Given the description of an element on the screen output the (x, y) to click on. 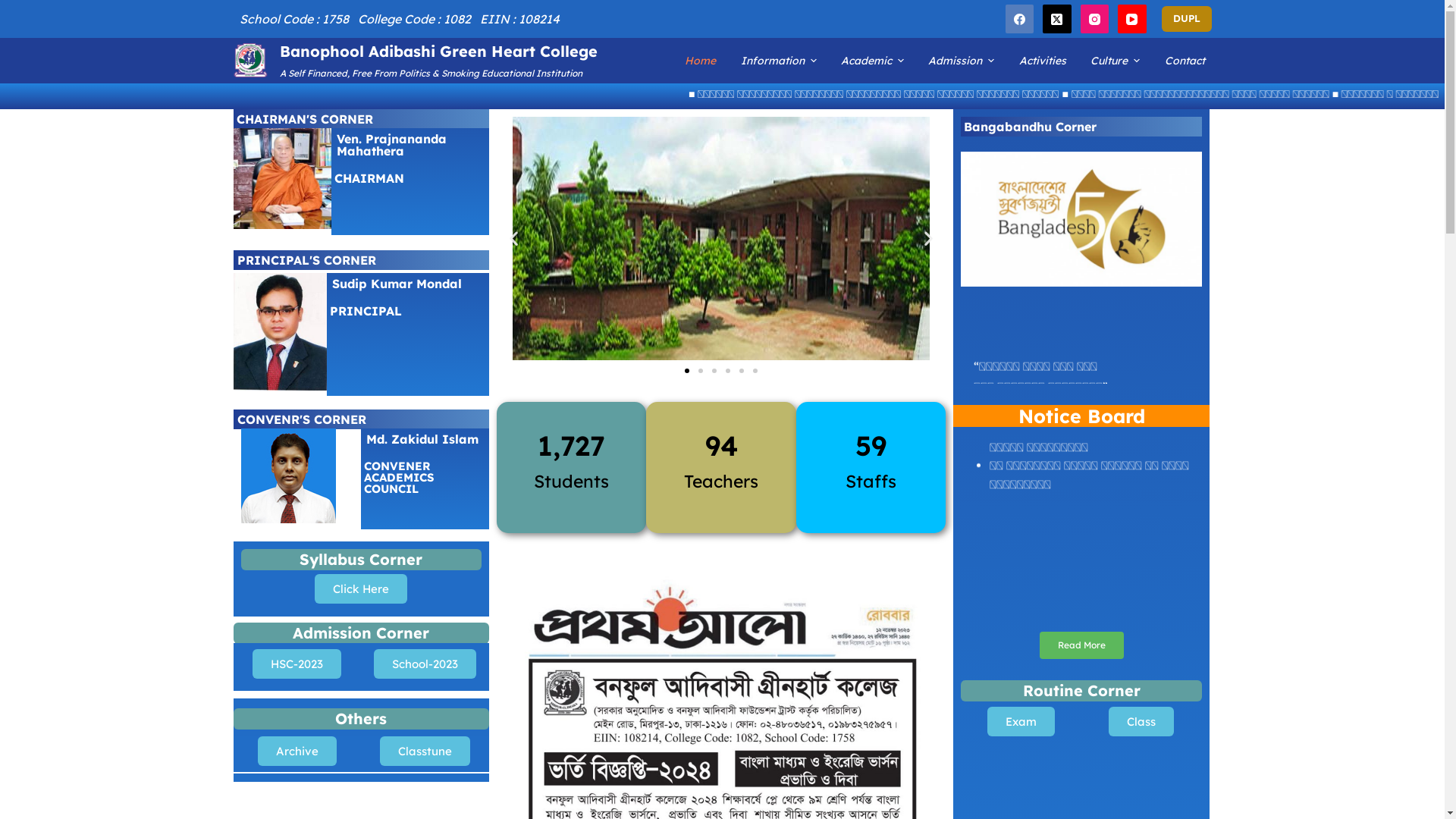
Information Element type: text (778, 60)
CONVENER ACADEMICS COUNCIL Element type: text (399, 476)
Exam Element type: text (1020, 721)
Ven. Prajnananda Mahathera Element type: text (391, 144)
Banophool Adibashi Green Heart College Element type: text (437, 50)
Skip to content Element type: text (15, 7)
DUPL Element type: text (1186, 18)
Academic Element type: text (872, 60)
Class Element type: text (1140, 721)
Classtune Element type: text (424, 750)
Click Here Element type: text (360, 588)
Contact Element type: text (1184, 60)
Activities Element type: text (1042, 60)
CHAIRMAN Element type: text (369, 177)
Archive Element type: text (296, 750)
Md. Zakidul Islam Element type: text (422, 438)
Admission Element type: text (961, 60)
Sudip Kumar Mondal Element type: text (396, 283)
Culture Element type: text (1114, 60)
HSC-2023 Element type: text (296, 663)
Read More Element type: text (1081, 644)
Home Element type: text (699, 60)
School-2023 Element type: text (424, 663)
PRINCIPAL Element type: text (365, 310)
